Given the description of an element on the screen output the (x, y) to click on. 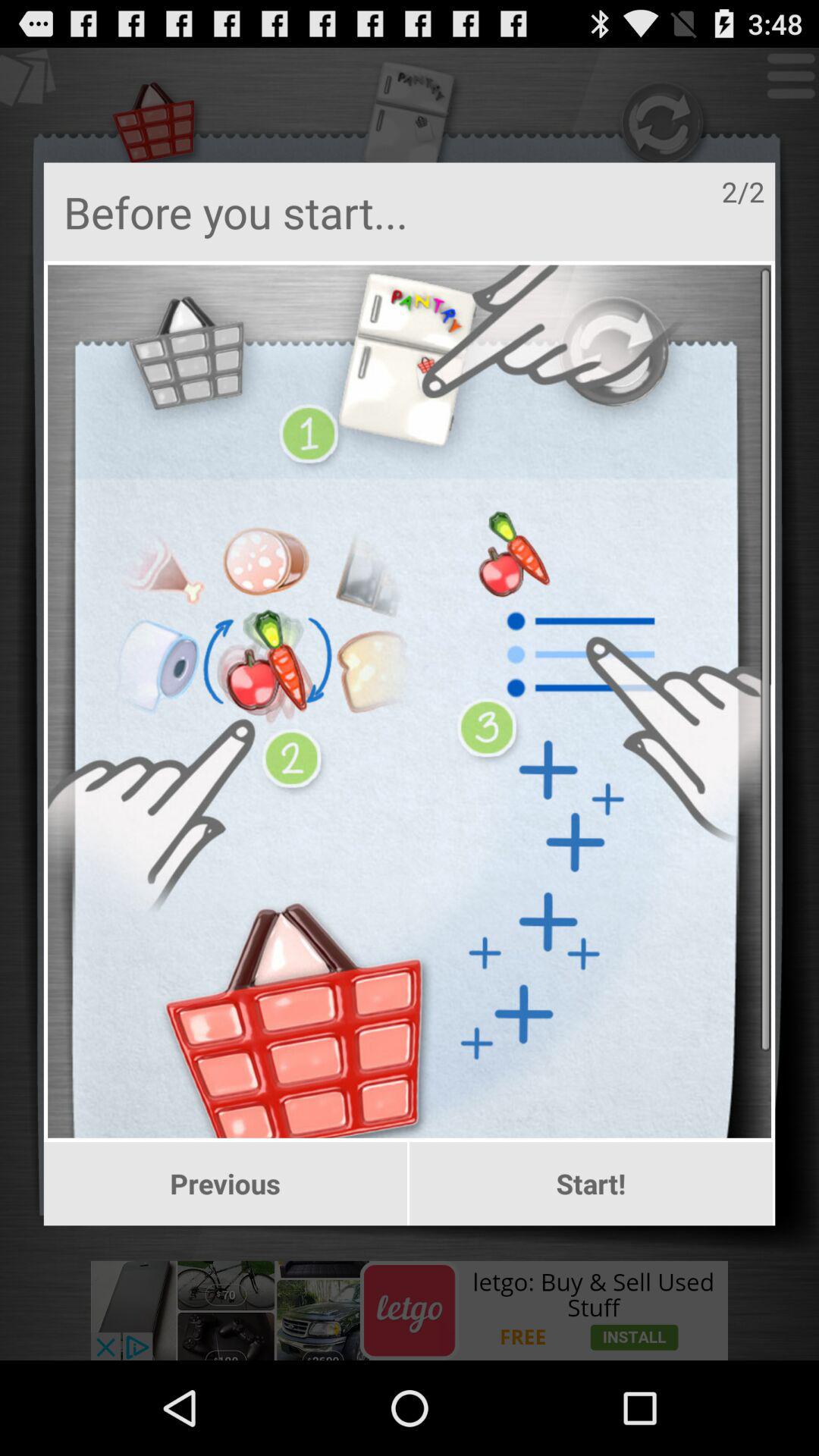
click the button at the bottom right corner (590, 1183)
